Given the description of an element on the screen output the (x, y) to click on. 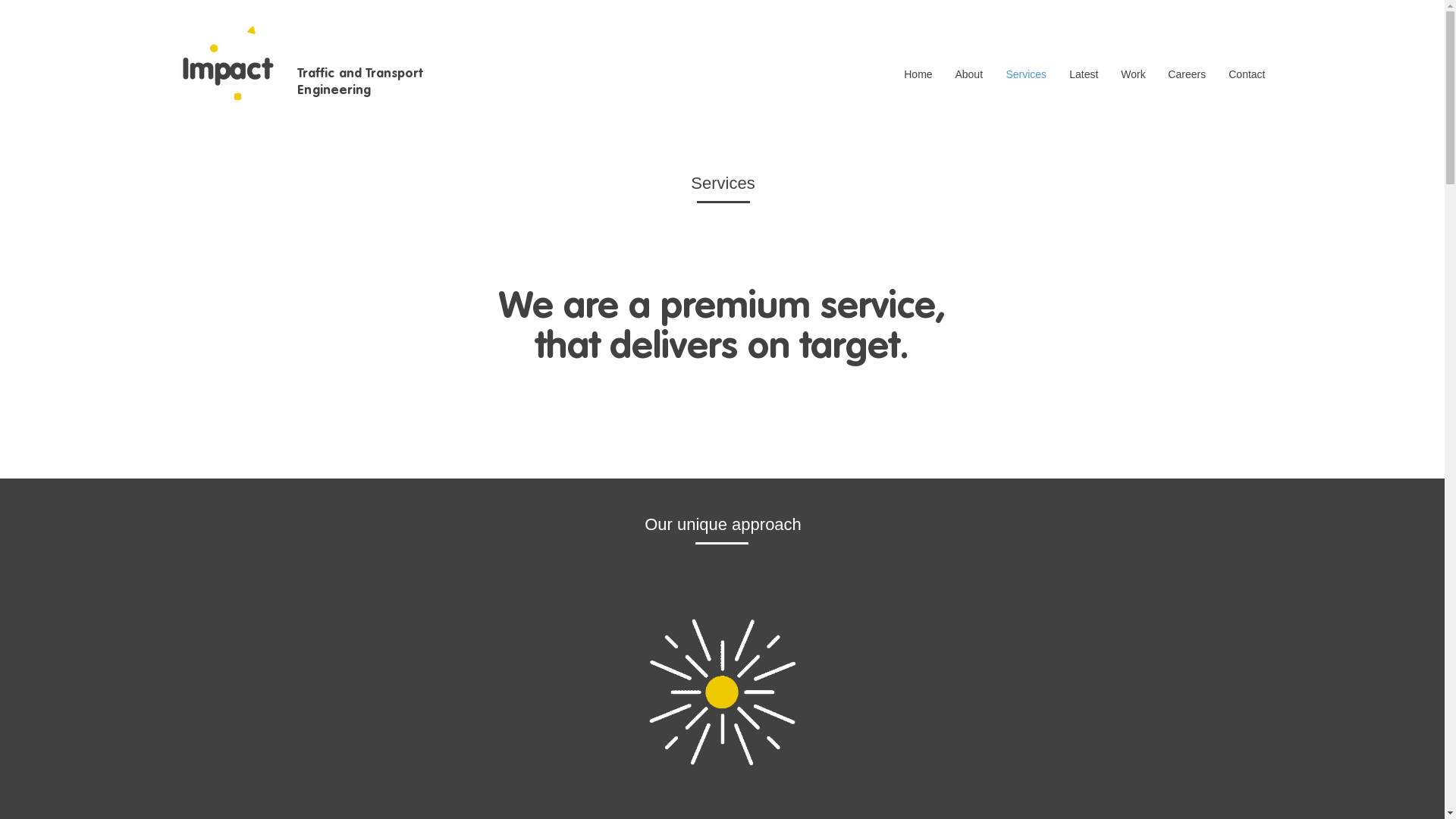
About Element type: text (968, 74)
Work Element type: text (1132, 74)
Home Element type: text (917, 74)
Contact Element type: text (1246, 74)
Traffic and Transport Engineering Element type: text (360, 80)
Latest Element type: text (1083, 74)
Services Element type: text (1025, 74)
Careers Element type: text (1186, 74)
